Given the description of an element on the screen output the (x, y) to click on. 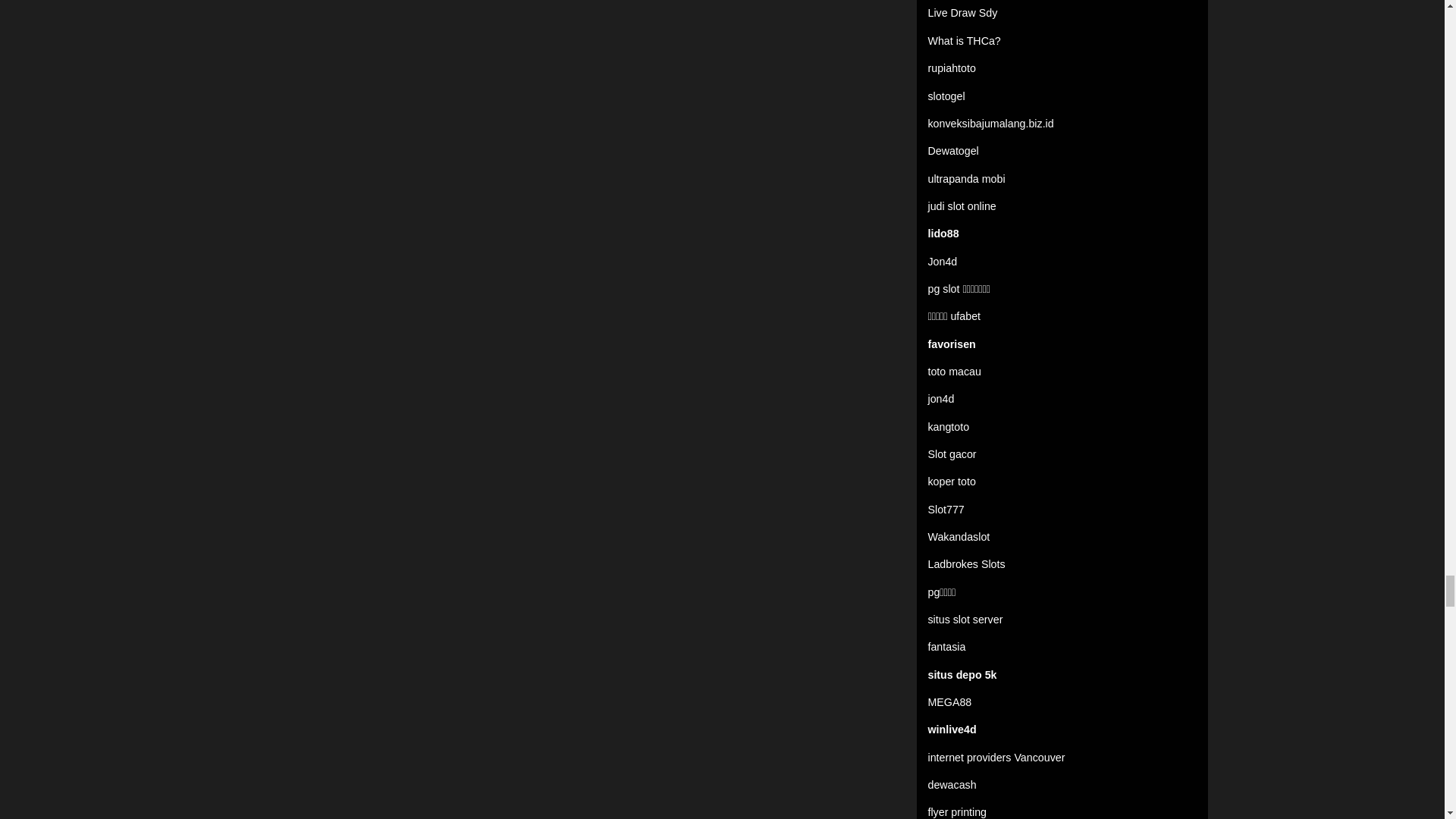
favorisen (951, 344)
